Given the description of an element on the screen output the (x, y) to click on. 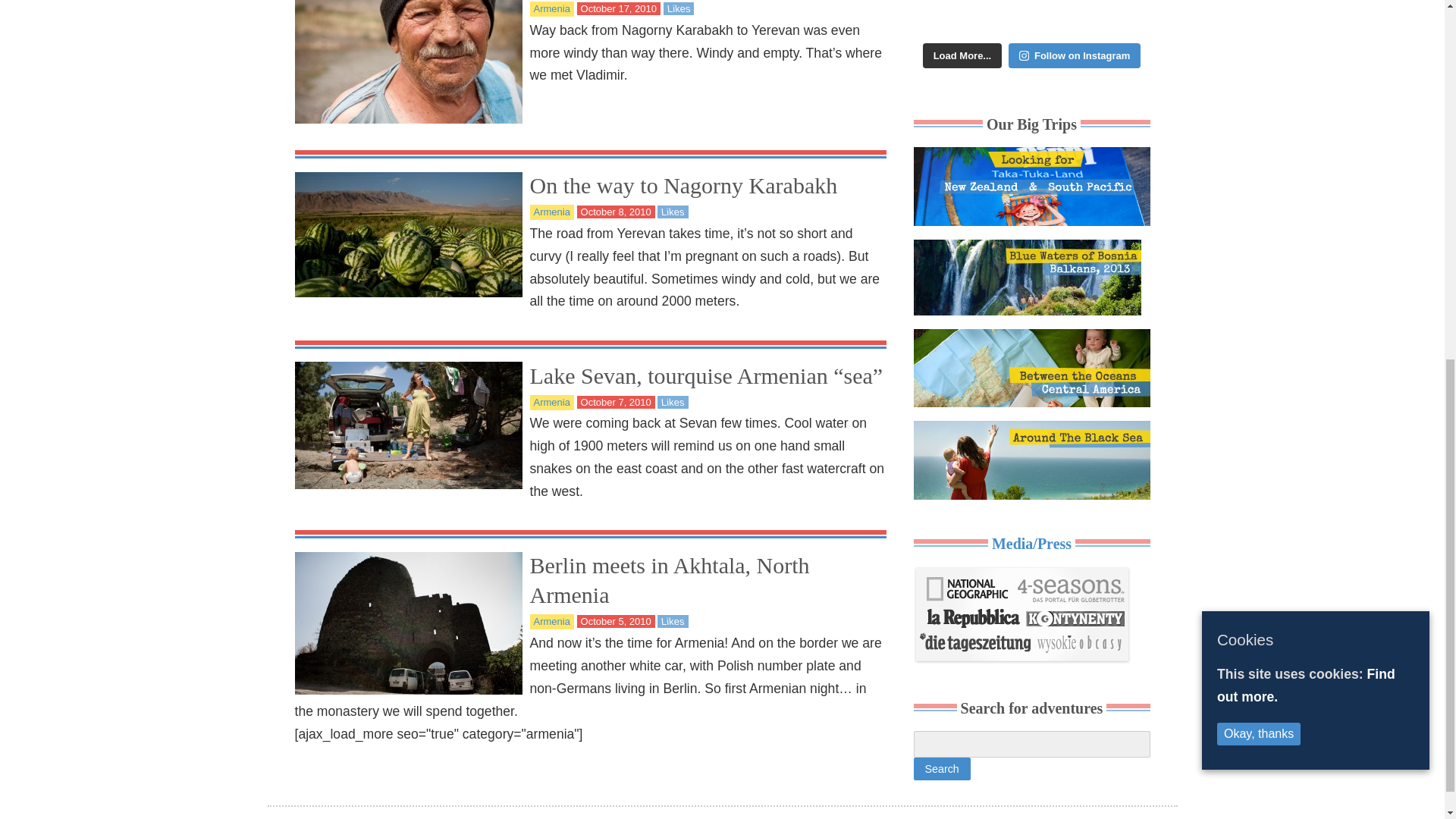
View all posts in Armenia (552, 8)
Search (940, 768)
